Given the description of an element on the screen output the (x, y) to click on. 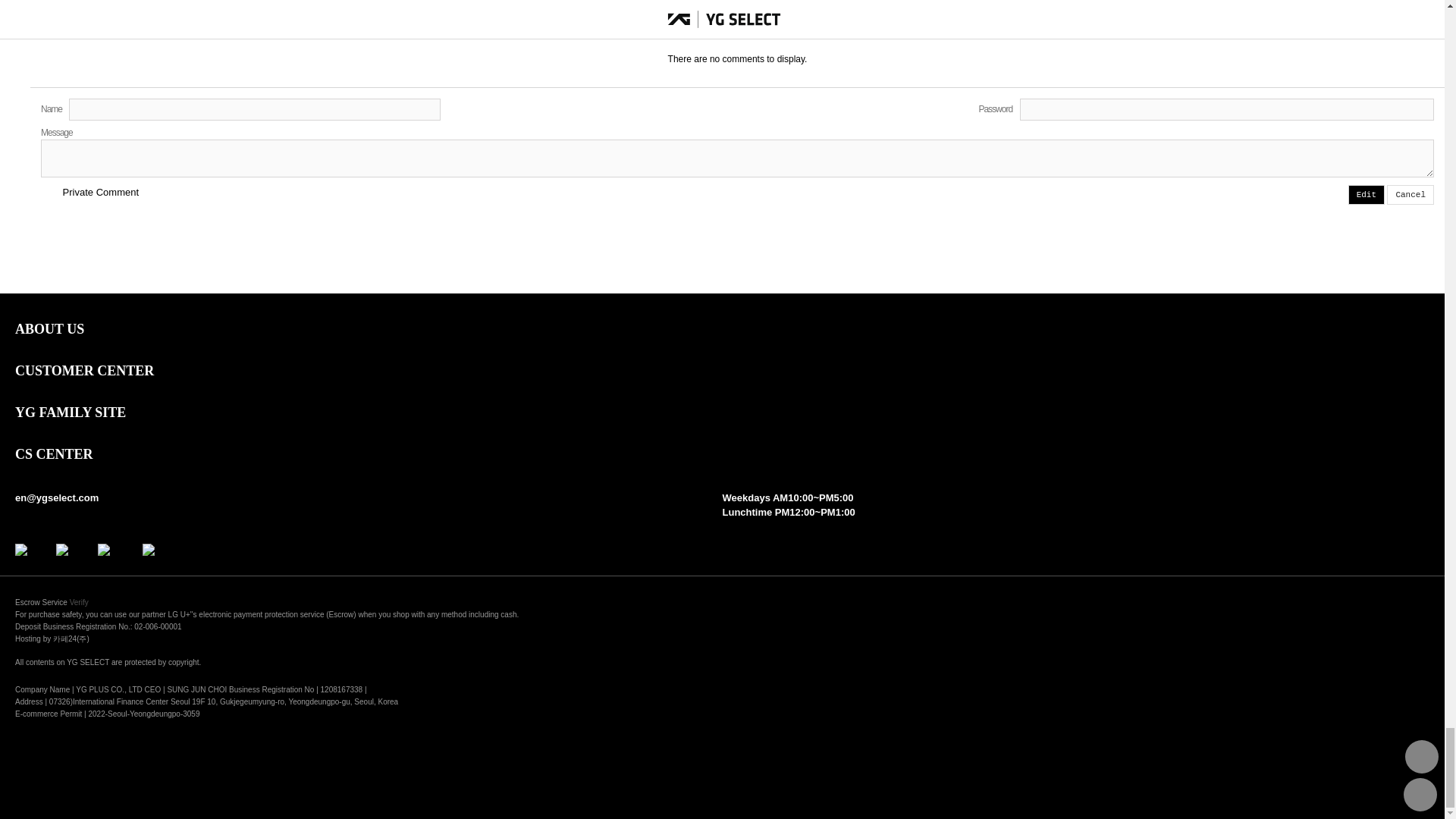
T (46, 192)
OK (1381, 3)
